Given the description of an element on the screen output the (x, y) to click on. 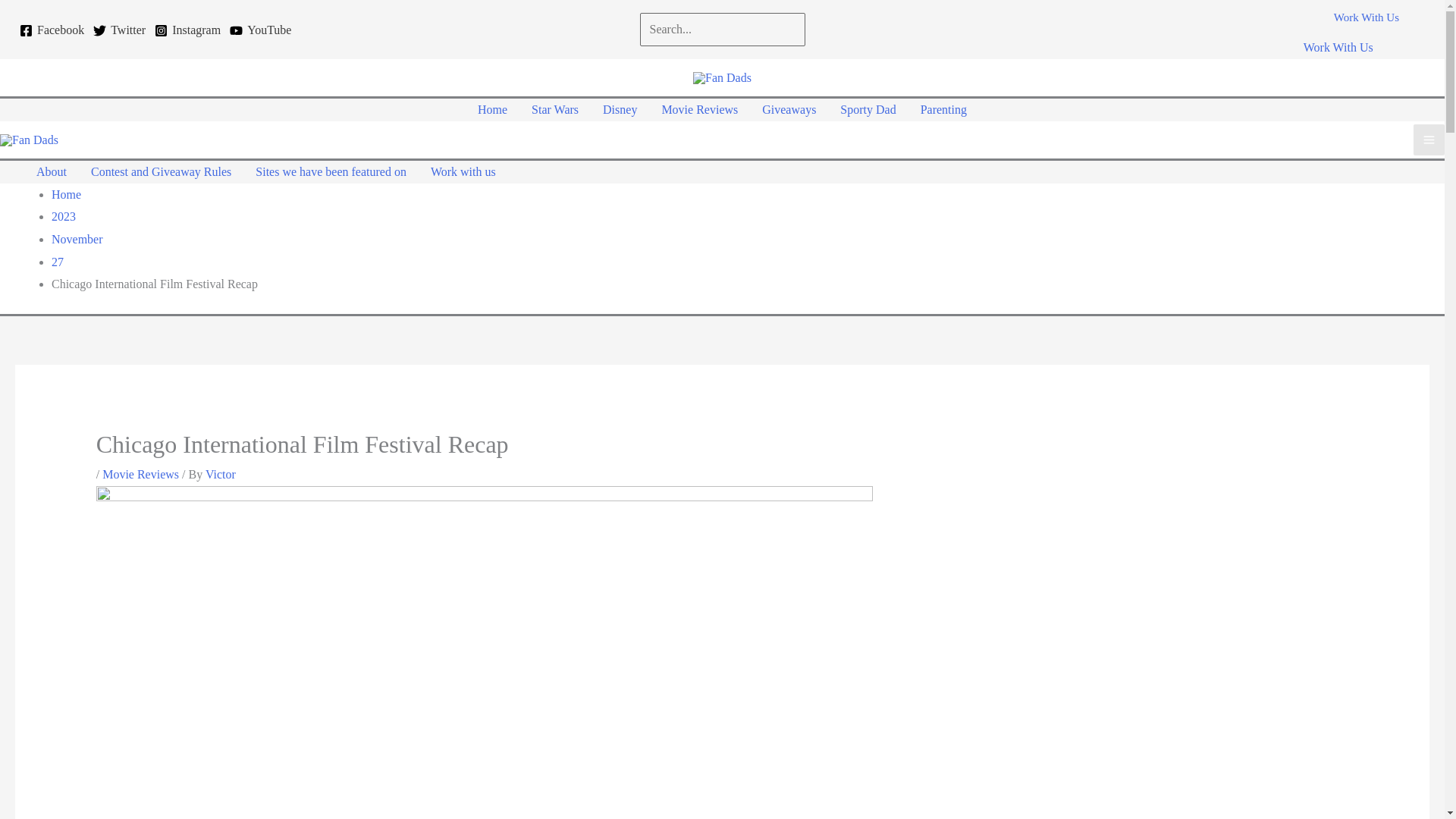
YouTube (260, 30)
Sporty Dad (867, 109)
27 (57, 261)
Victor (220, 473)
Work With Us (1338, 47)
Giveaways (788, 109)
Twitter (119, 30)
November (76, 238)
Star Wars (555, 109)
View all posts by Victor (220, 473)
Instagram (187, 30)
Contest and Giveaway Rules (160, 171)
About (51, 171)
Movie Reviews (140, 473)
Home (65, 194)
